Given the description of an element on the screen output the (x, y) to click on. 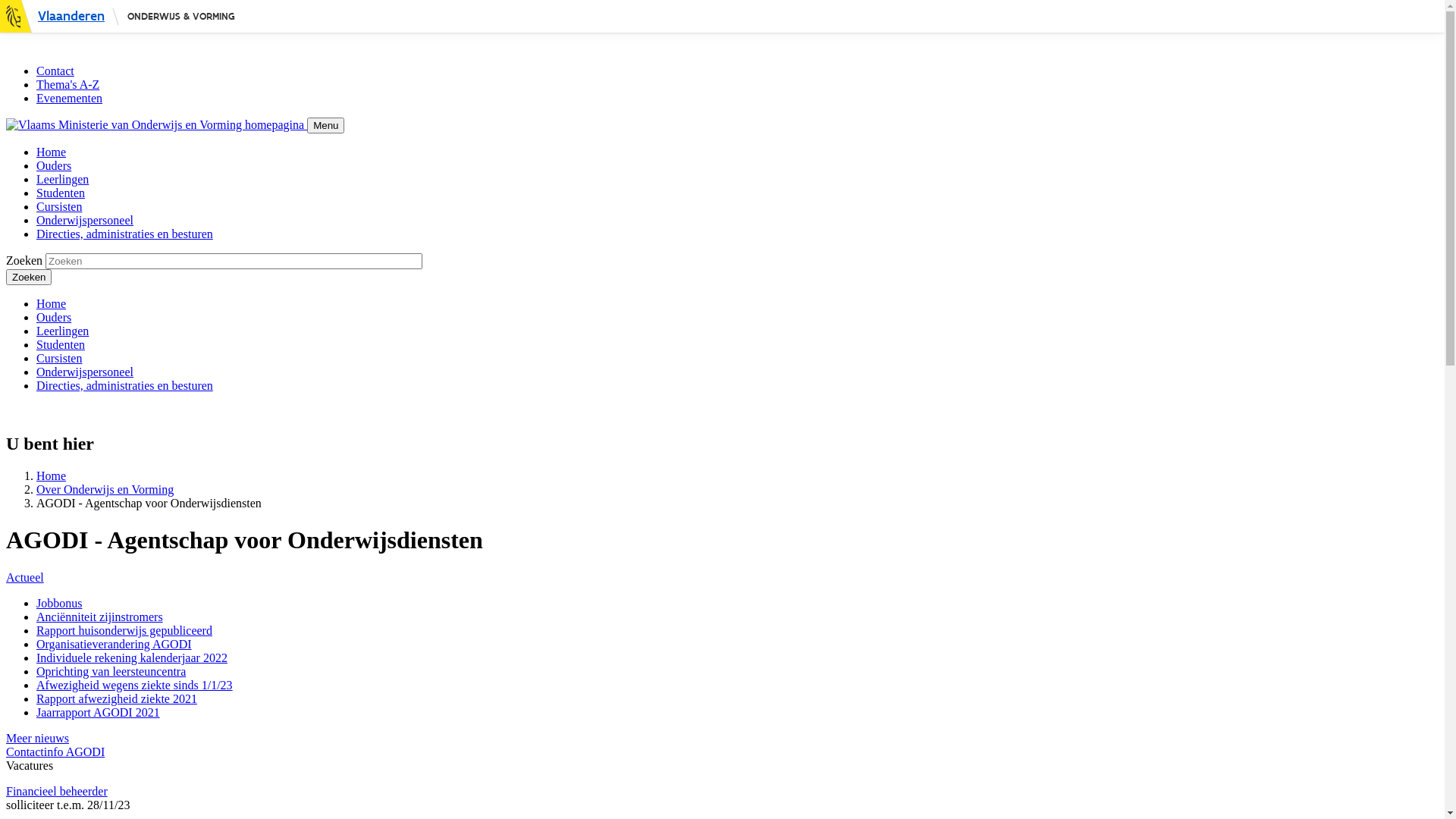
Cursisten Element type: text (58, 357)
Thema's A-Z Element type: text (67, 84)
Cursisten Element type: text (58, 206)
Meer nieuws Element type: text (37, 737)
Home Element type: text (50, 303)
Afwezigheid wegens ziekte sinds 1/1/23 Element type: text (134, 684)
Naar de inhoud Element type: text (43, 12)
Home Element type: text (50, 475)
Over Onderwijs en Vorming Element type: text (104, 489)
Vlaanderen Element type: text (59, 16)
Rapport huisonderwijs gepubliceerd Element type: text (124, 630)
Organisatieverandering AGODI Element type: text (113, 643)
Zoeken Element type: text (28, 277)
Leerlingen Element type: text (62, 178)
Ga naar de homepage Element type: hover (156, 124)
Directies, administraties en besturen Element type: text (124, 385)
Individuele rekening kalenderjaar 2022 Element type: text (131, 657)
Studenten Element type: text (60, 344)
Leerlingen Element type: text (62, 330)
Oprichting van leersteuncentra Element type: text (110, 671)
Contactinfo AGODI Element type: text (55, 751)
Studenten Element type: text (60, 192)
Ouders Element type: text (53, 165)
Jobbonus Element type: text (58, 602)
Jaarrapport AGODI 2021 Element type: text (98, 712)
Financieel beheerder Element type: text (56, 790)
Onderwijspersoneel Element type: text (84, 371)
Directies, administraties en besturen Element type: text (124, 233)
Actueel Element type: text (24, 577)
Rapport afwezigheid ziekte 2021 Element type: text (116, 698)
Evenementen Element type: text (69, 97)
Contact Element type: text (55, 70)
Menu Element type: text (325, 125)
ONDERWIJS & VORMING Element type: text (180, 16)
Ouders Element type: text (53, 316)
Home Element type: text (50, 151)
Onderwijspersoneel Element type: text (84, 219)
